Given the description of an element on the screen output the (x, y) to click on. 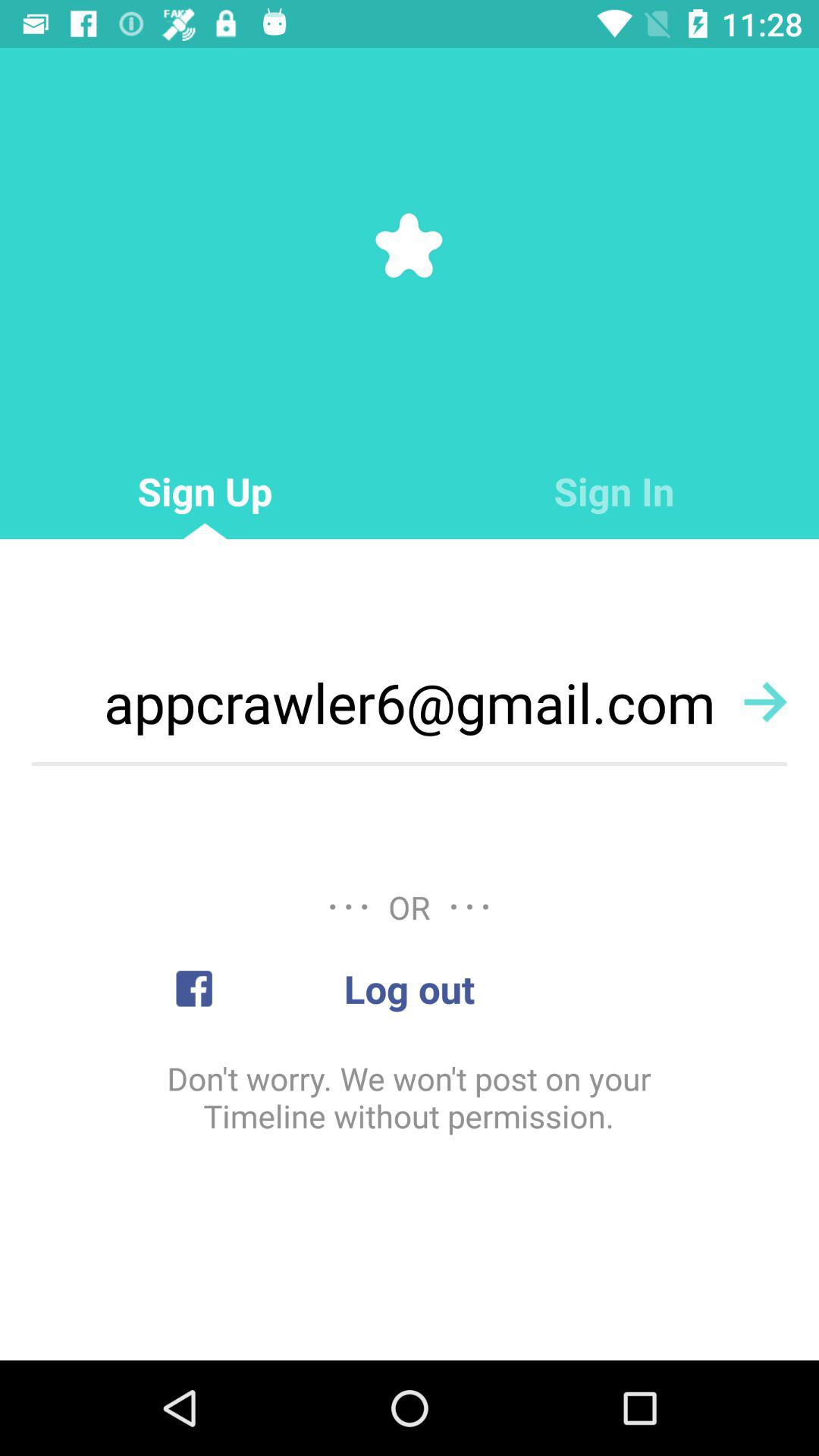
tap the icon below the sign up item (409, 702)
